Given the description of an element on the screen output the (x, y) to click on. 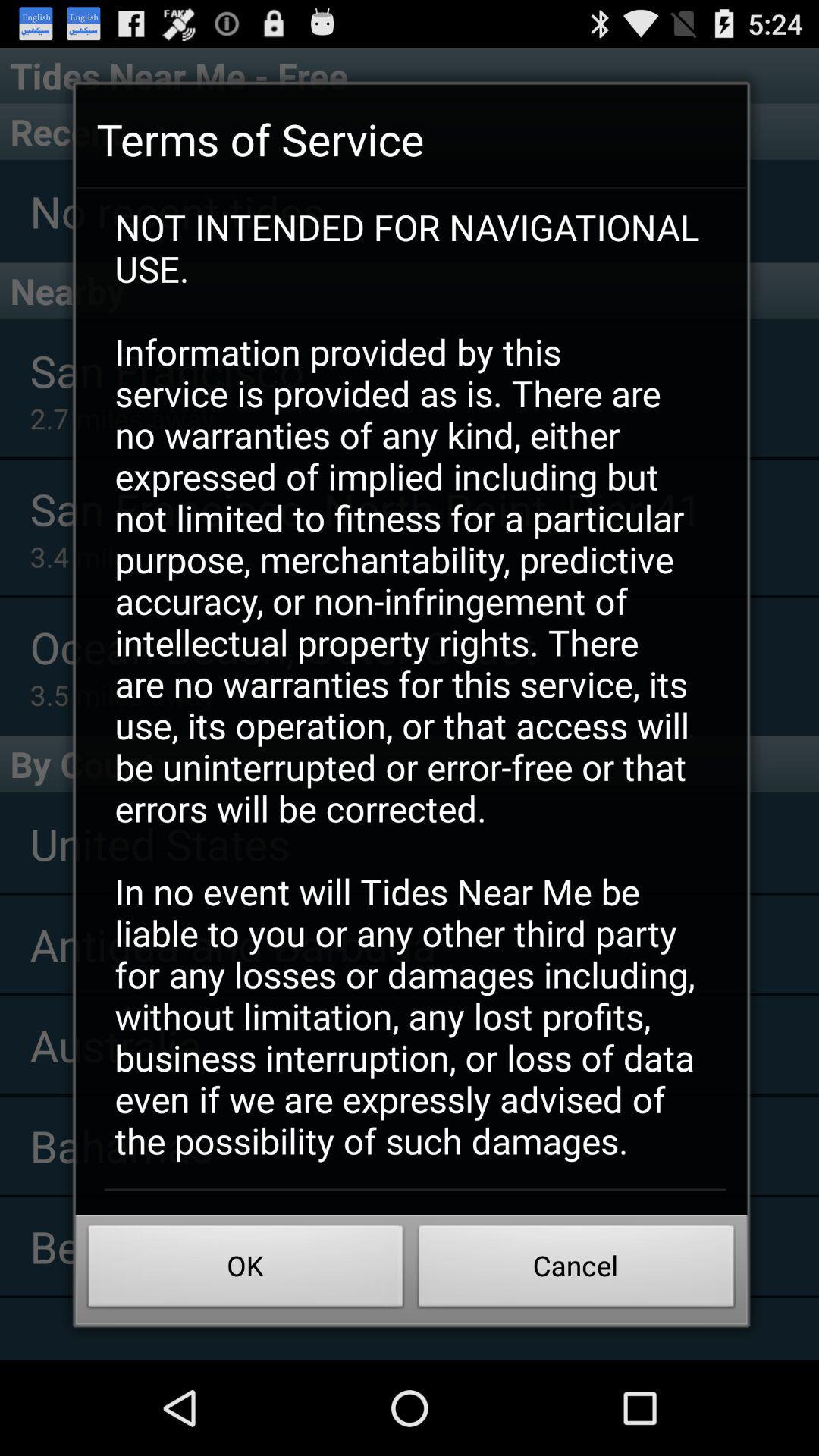
open the icon at the bottom left corner (245, 1270)
